Given the description of an element on the screen output the (x, y) to click on. 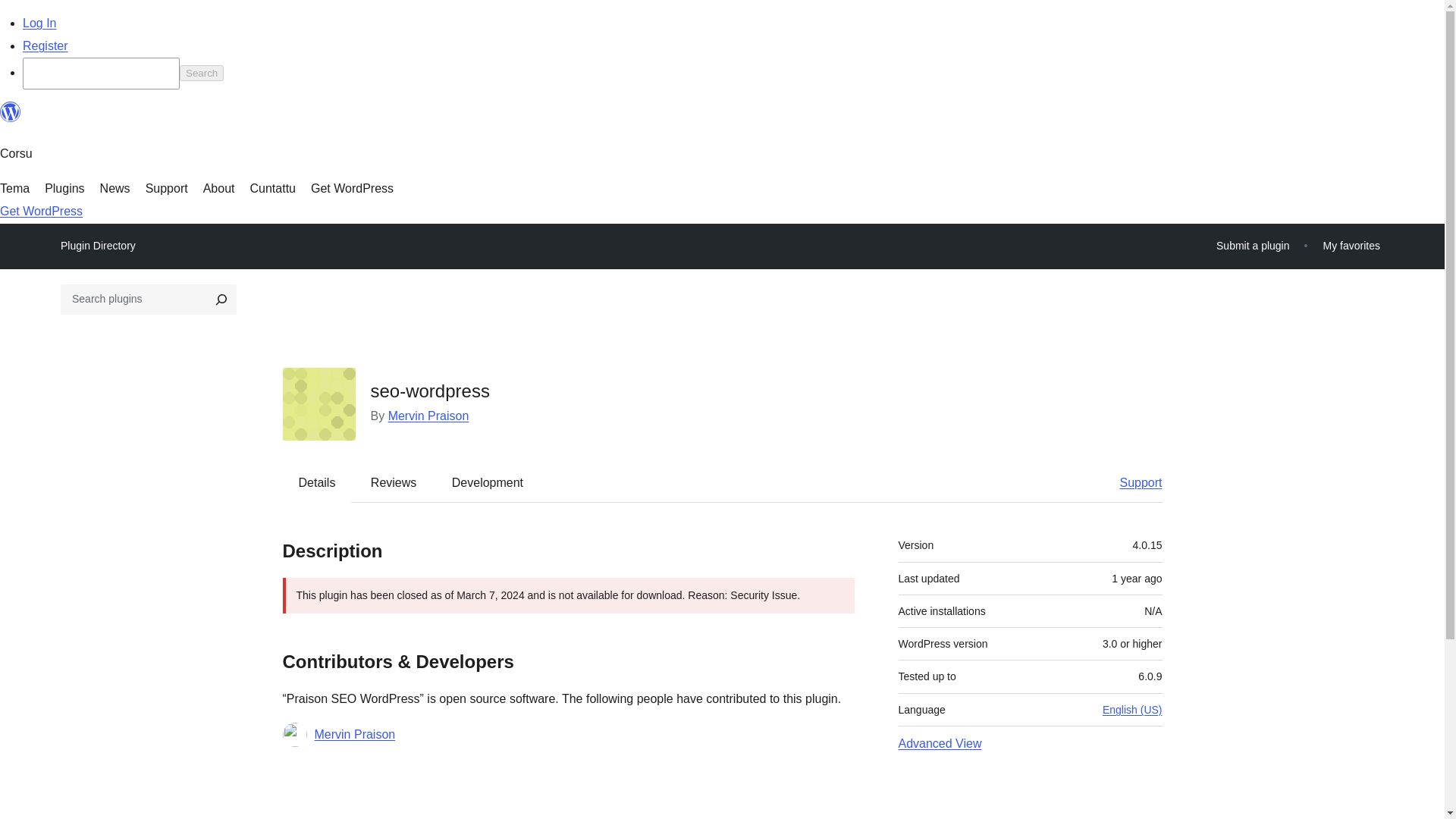
Mervin Praison (354, 734)
Mervin Praison (428, 415)
Development (487, 483)
Register (45, 45)
Get WordPress (352, 188)
About (218, 188)
Search (201, 73)
Submit a plugin (1253, 246)
News (115, 188)
Get WordPress (41, 210)
